Given the description of an element on the screen output the (x, y) to click on. 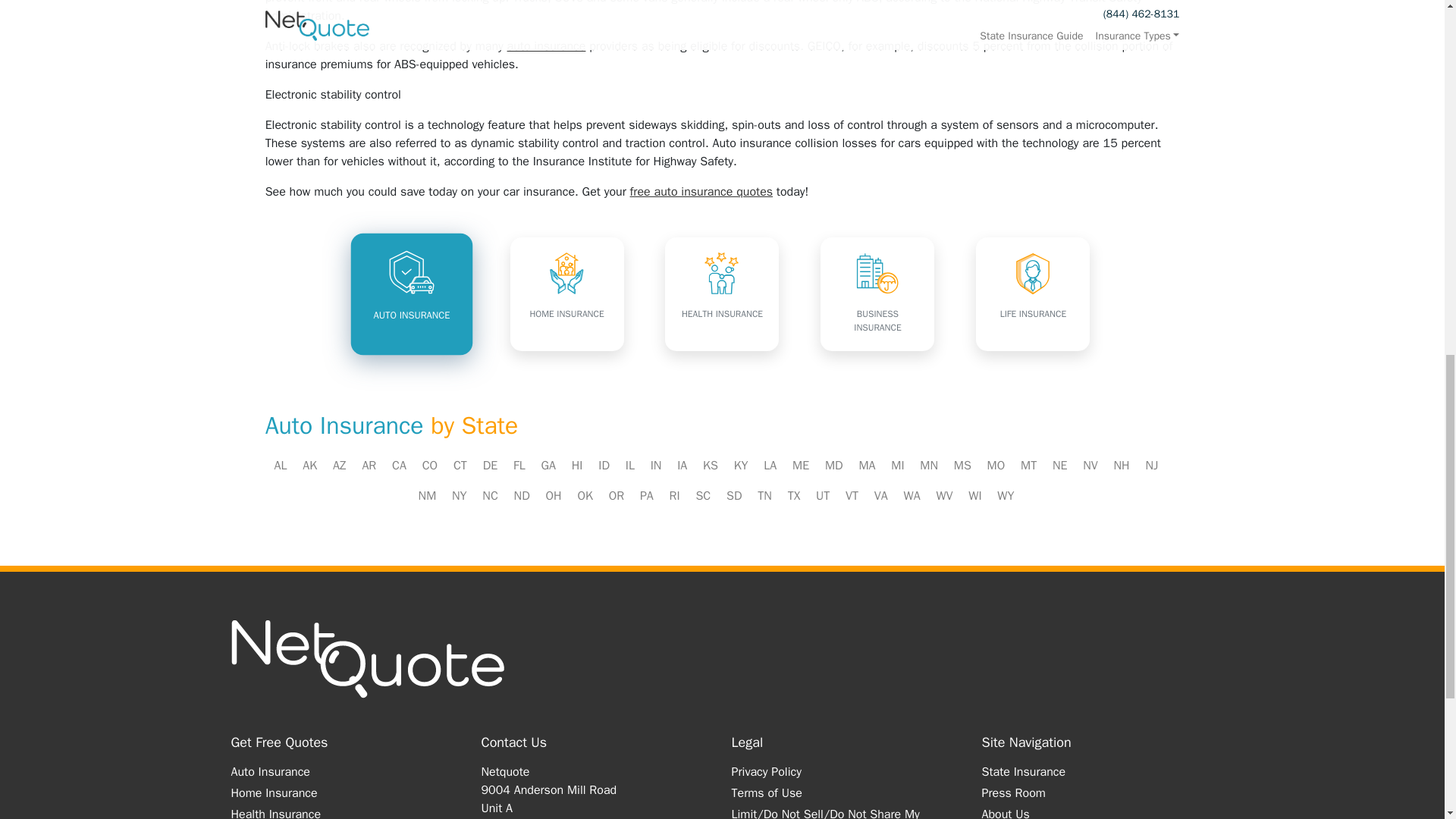
AL (280, 465)
AK (309, 465)
auto insurance (546, 46)
CA (398, 465)
HEALTH INSURANCE (721, 294)
AUTO INSURANCE (407, 289)
HOME INSURANCE (567, 294)
free auto insurance quotes (701, 191)
LIFE INSURANCE (1032, 294)
AZ (339, 465)
BUSINESS INSURANCE (877, 294)
AR (368, 465)
